Given the description of an element on the screen output the (x, y) to click on. 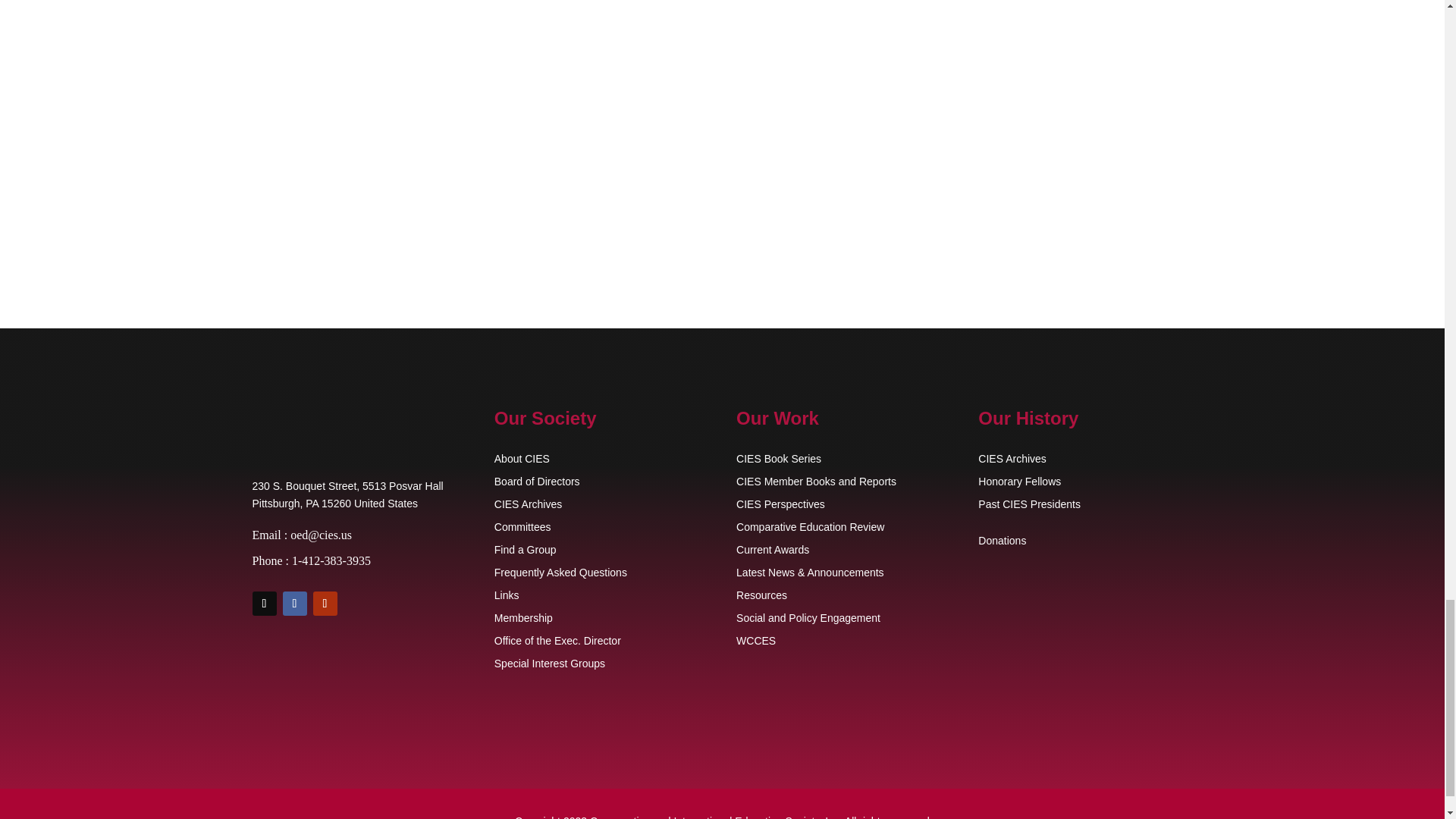
Follow on Youtube (324, 603)
Follow on Facebook (293, 603)
Follow on X (263, 603)
